Given the description of an element on the screen output the (x, y) to click on. 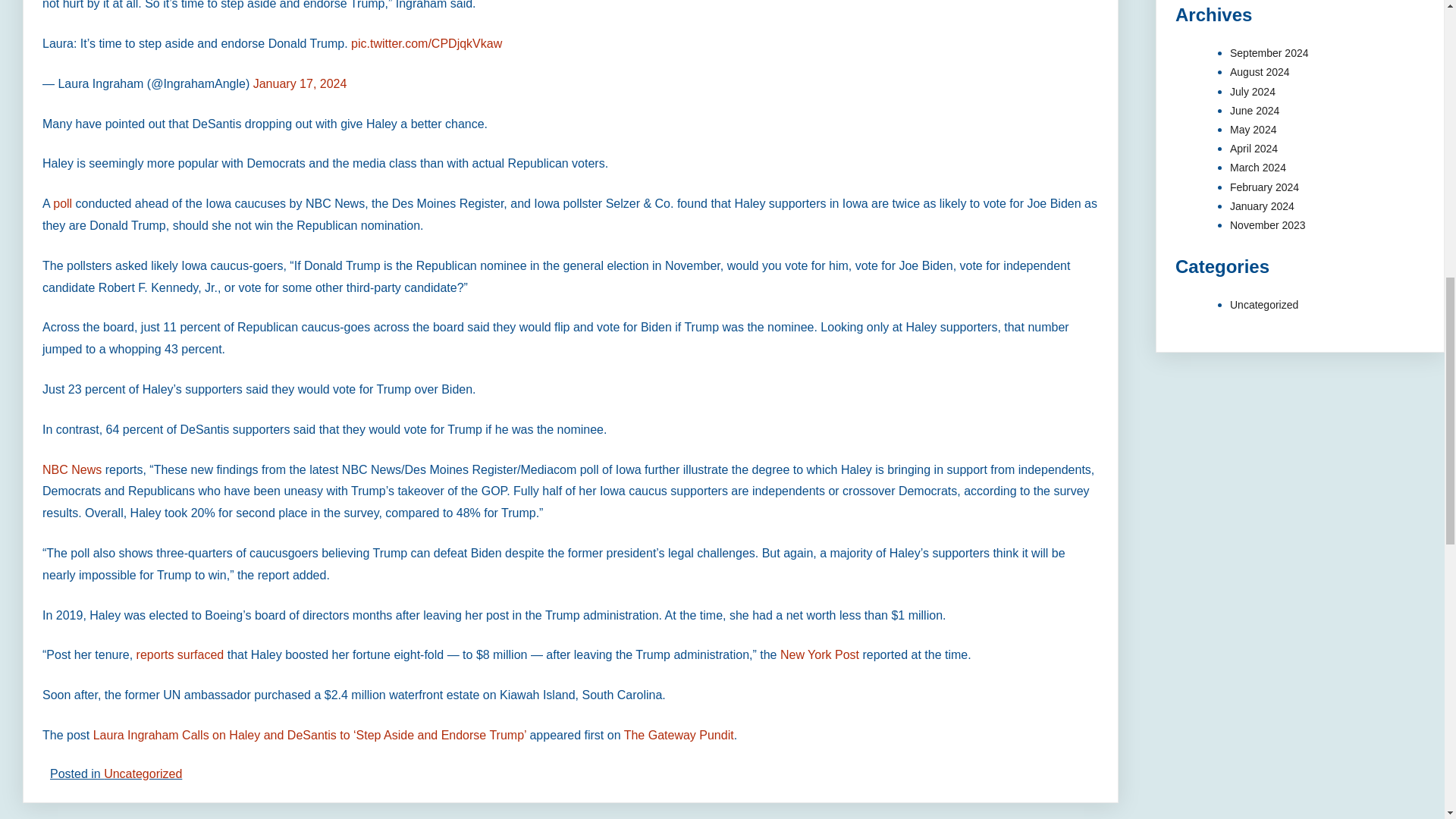
August 2024 (1260, 71)
November 2023 (1268, 224)
New York Post (819, 654)
July 2024 (1252, 91)
March 2024 (1257, 167)
June 2024 (1254, 110)
The Gateway Pundit (678, 735)
April 2024 (1254, 148)
Uncategorized (1264, 304)
February 2024 (1264, 186)
